Given the description of an element on the screen output the (x, y) to click on. 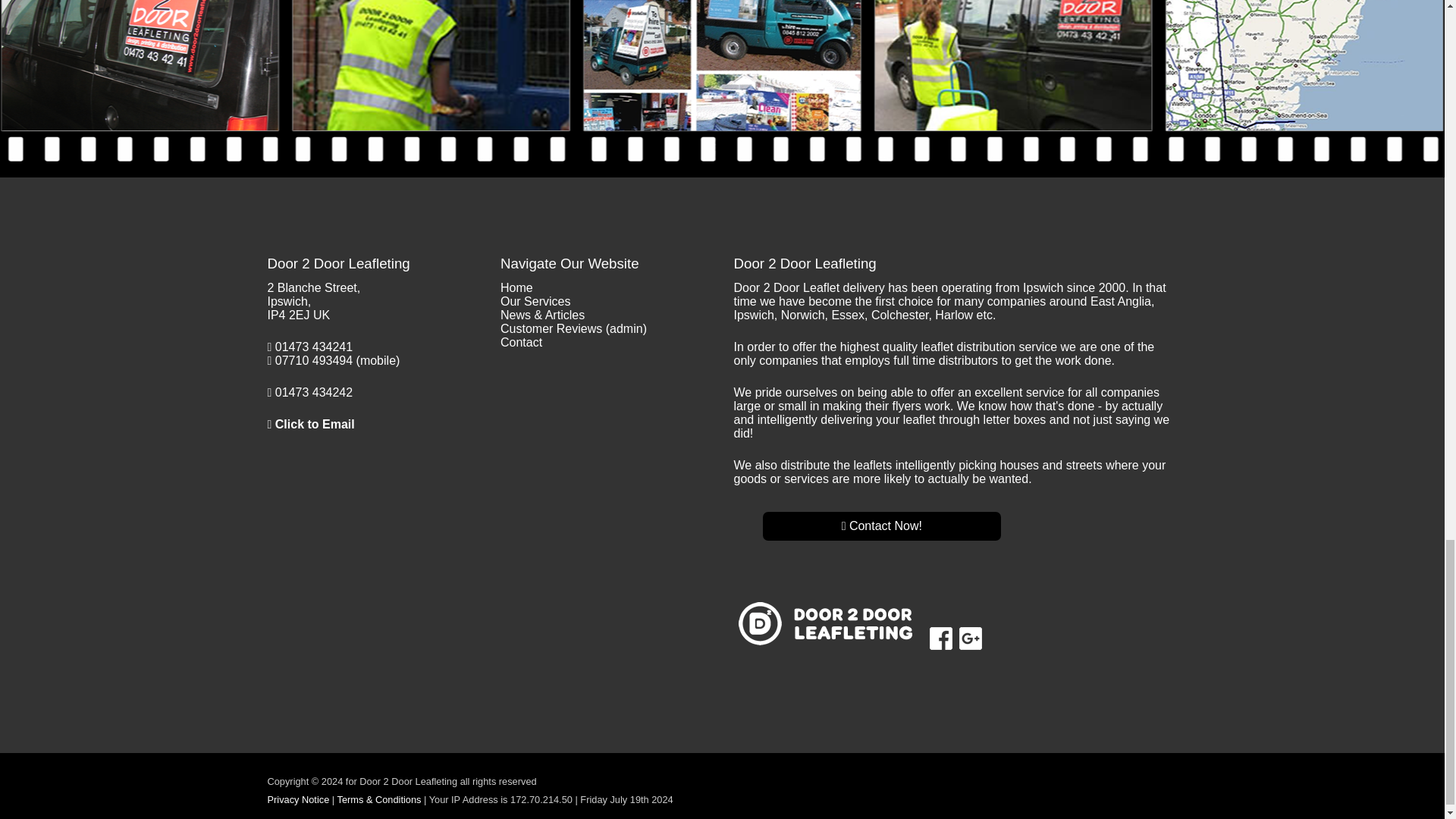
Customer Reviews (551, 328)
Home (516, 287)
Our Services (535, 300)
Contact (520, 341)
Click to Email (315, 423)
Contact Now! (881, 525)
Privacy Notice (297, 799)
